Given the description of an element on the screen output the (x, y) to click on. 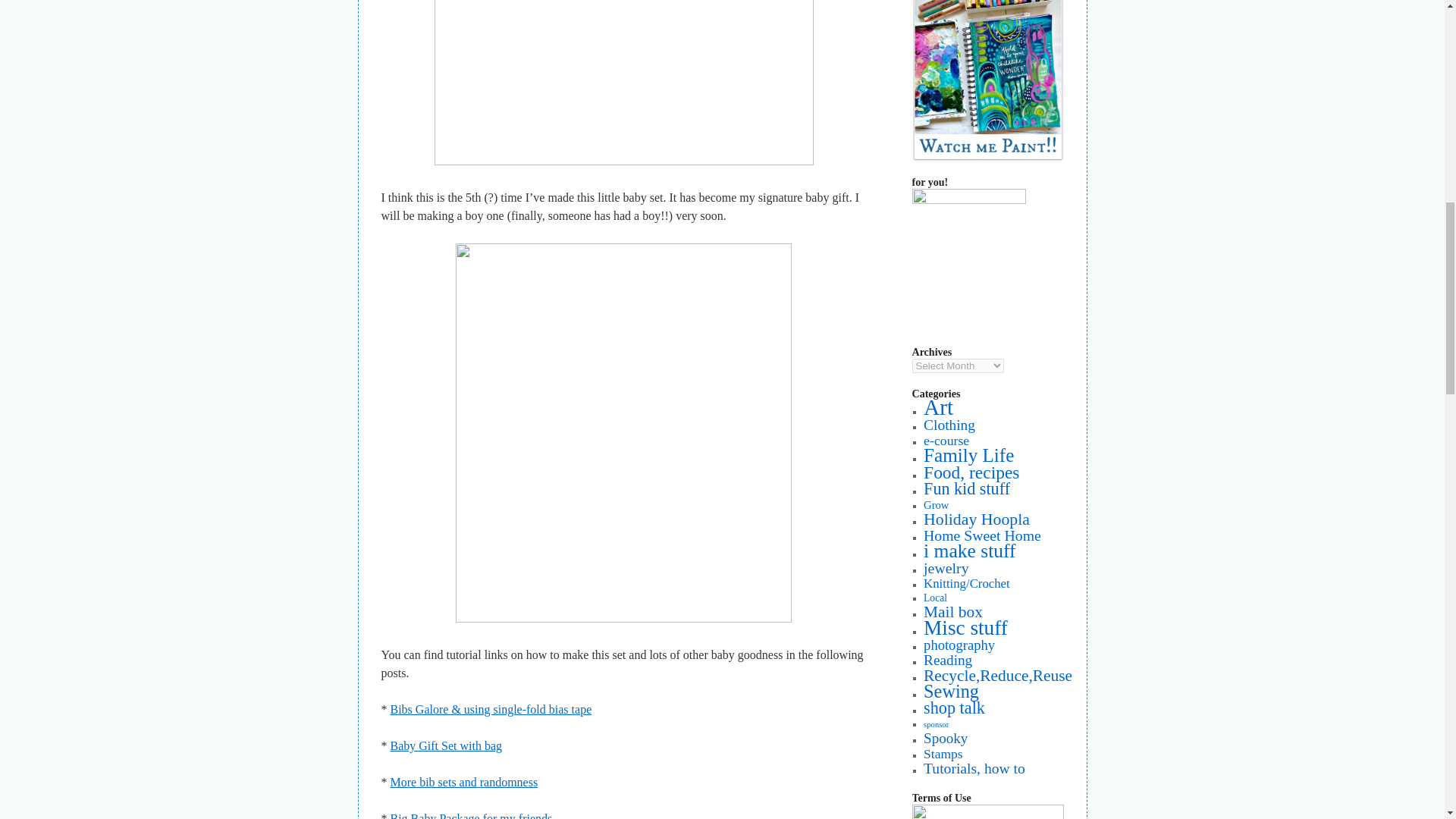
Permanent Link: More bib sets and randomness (463, 781)
Permanent Link: Baby Gift Set with bag (446, 745)
Baby Gift Set with bag (446, 745)
More bib sets and randomness (463, 781)
Big Baby Package for my friends (469, 815)
Permanent Link: Big Baby Package for my friends (469, 815)
